Given the description of an element on the screen output the (x, y) to click on. 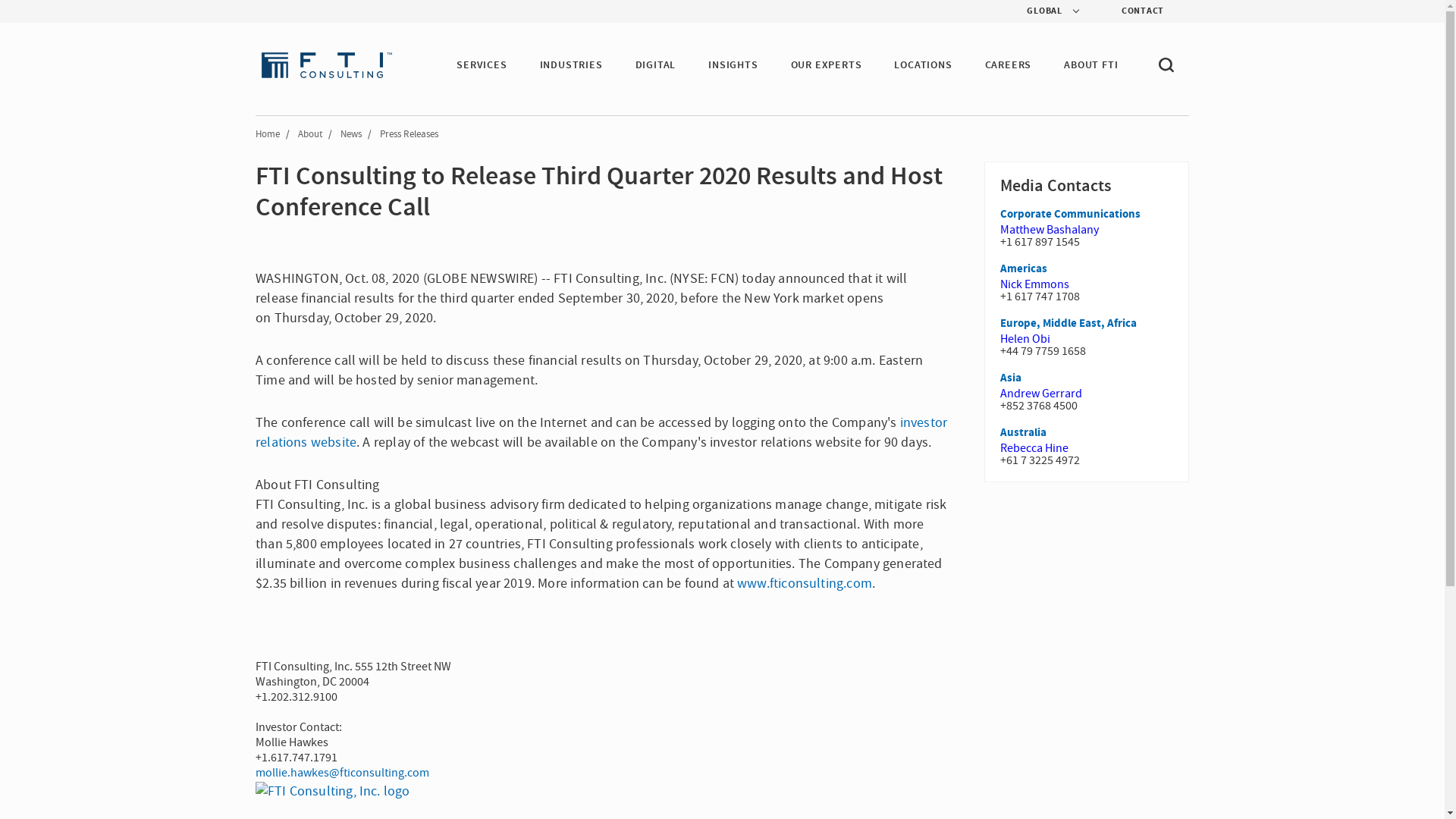
INDUSTRIES (571, 65)
CONTACT (1129, 11)
SERVICES (481, 65)
